Given the description of an element on the screen output the (x, y) to click on. 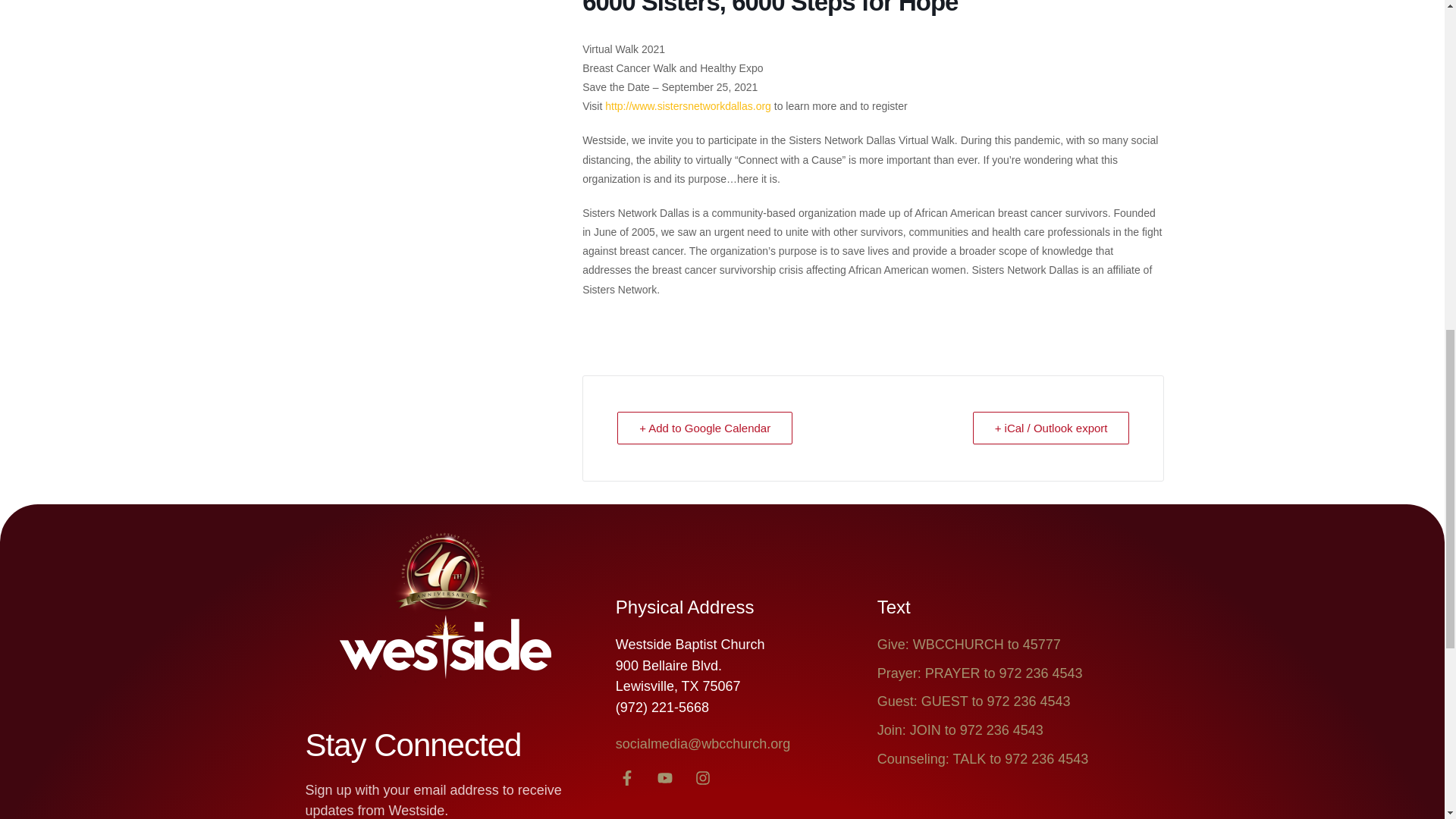
Westside Baptist Church (445, 648)
